Given the description of an element on the screen output the (x, y) to click on. 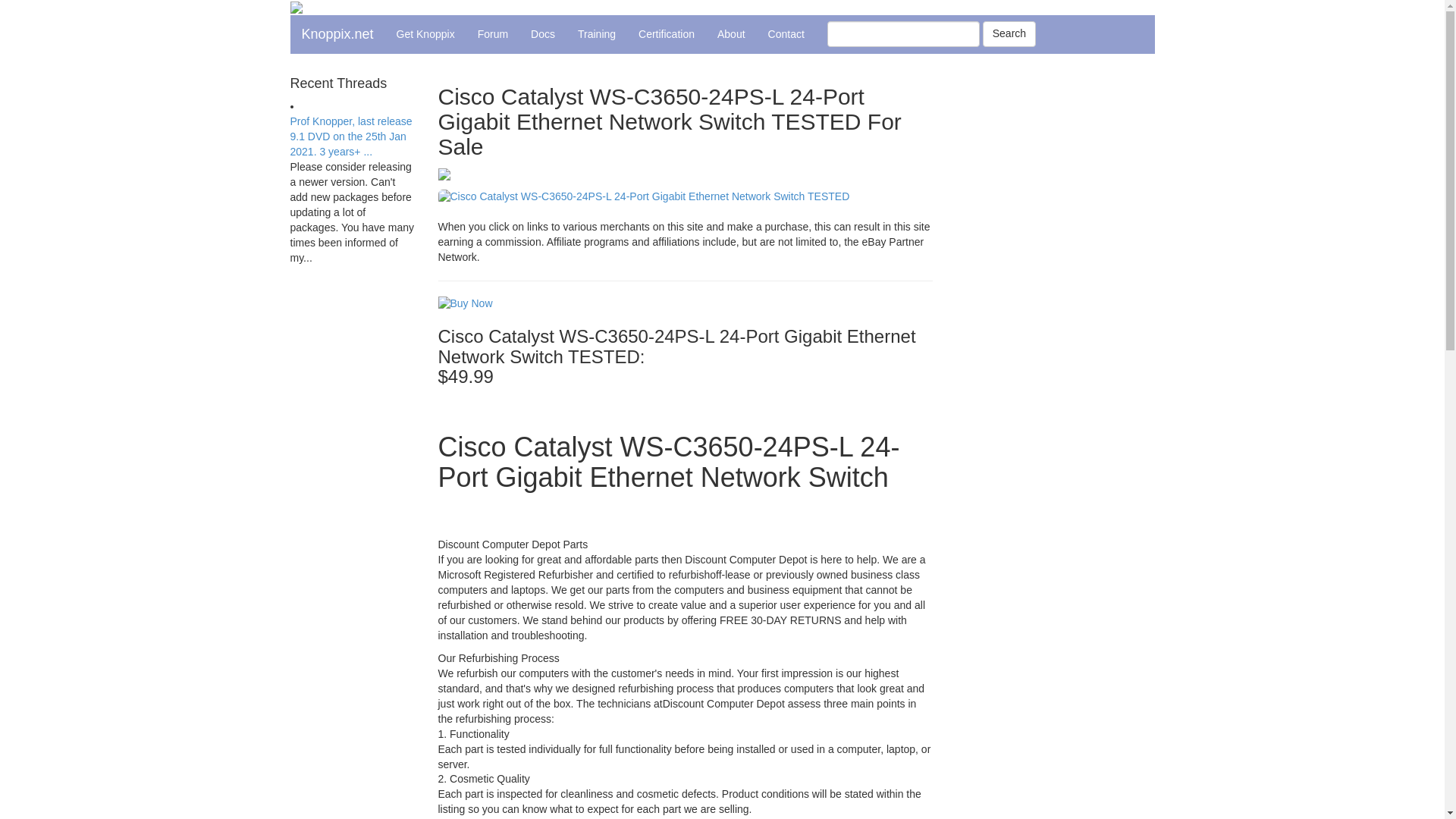
Search (1008, 33)
Knoppix.net (336, 34)
Certification (666, 34)
Buy Now (465, 304)
Contact (786, 34)
Get Knoppix (425, 34)
Training (596, 34)
Forum (492, 34)
Docs (542, 34)
